Given the description of an element on the screen output the (x, y) to click on. 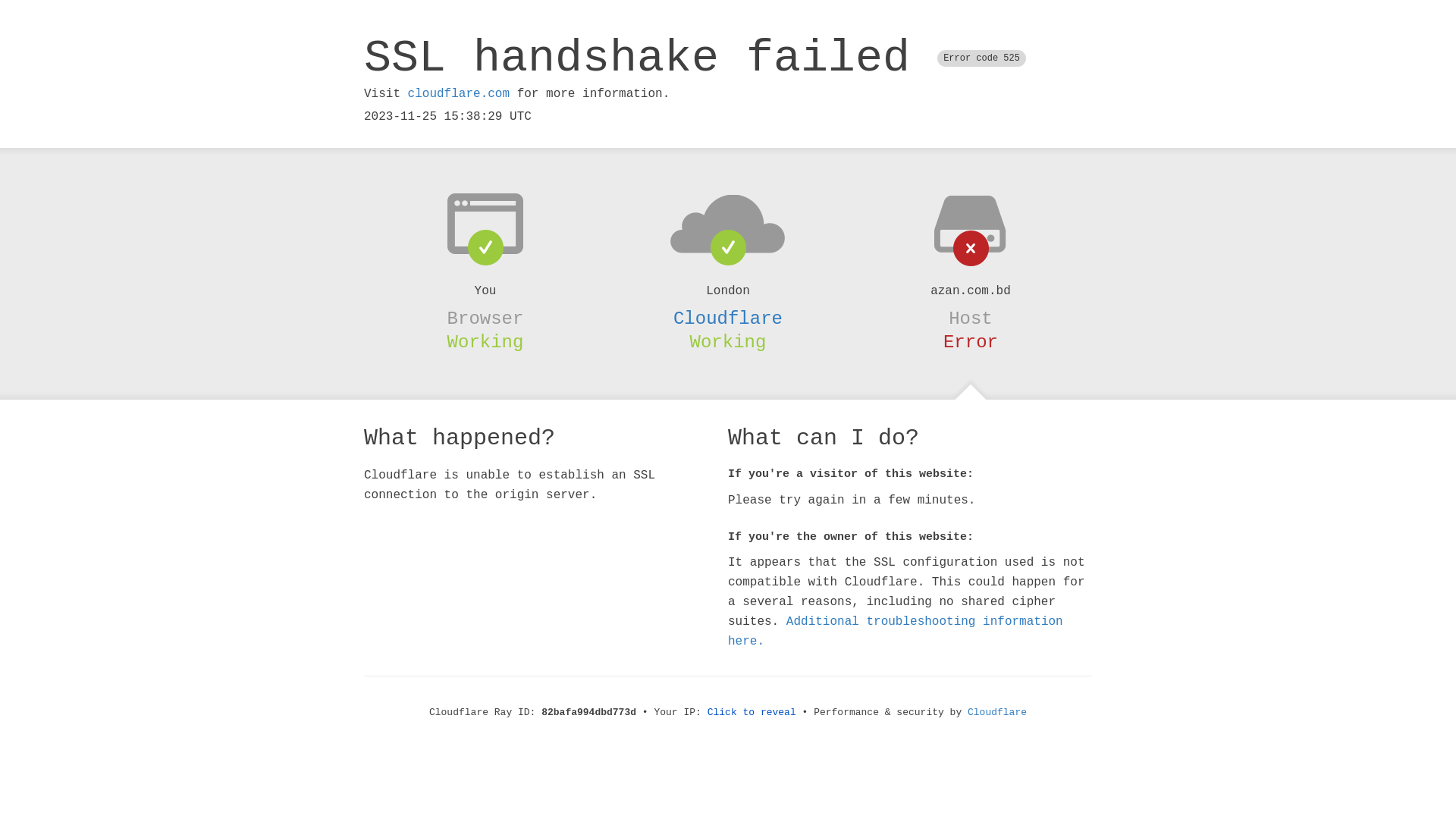
cloudflare.com Element type: text (458, 93)
Click to reveal Element type: text (751, 712)
Cloudflare Element type: text (996, 712)
Additional troubleshooting information here. Element type: text (895, 631)
Cloudflare Element type: text (727, 318)
